Given the description of an element on the screen output the (x, y) to click on. 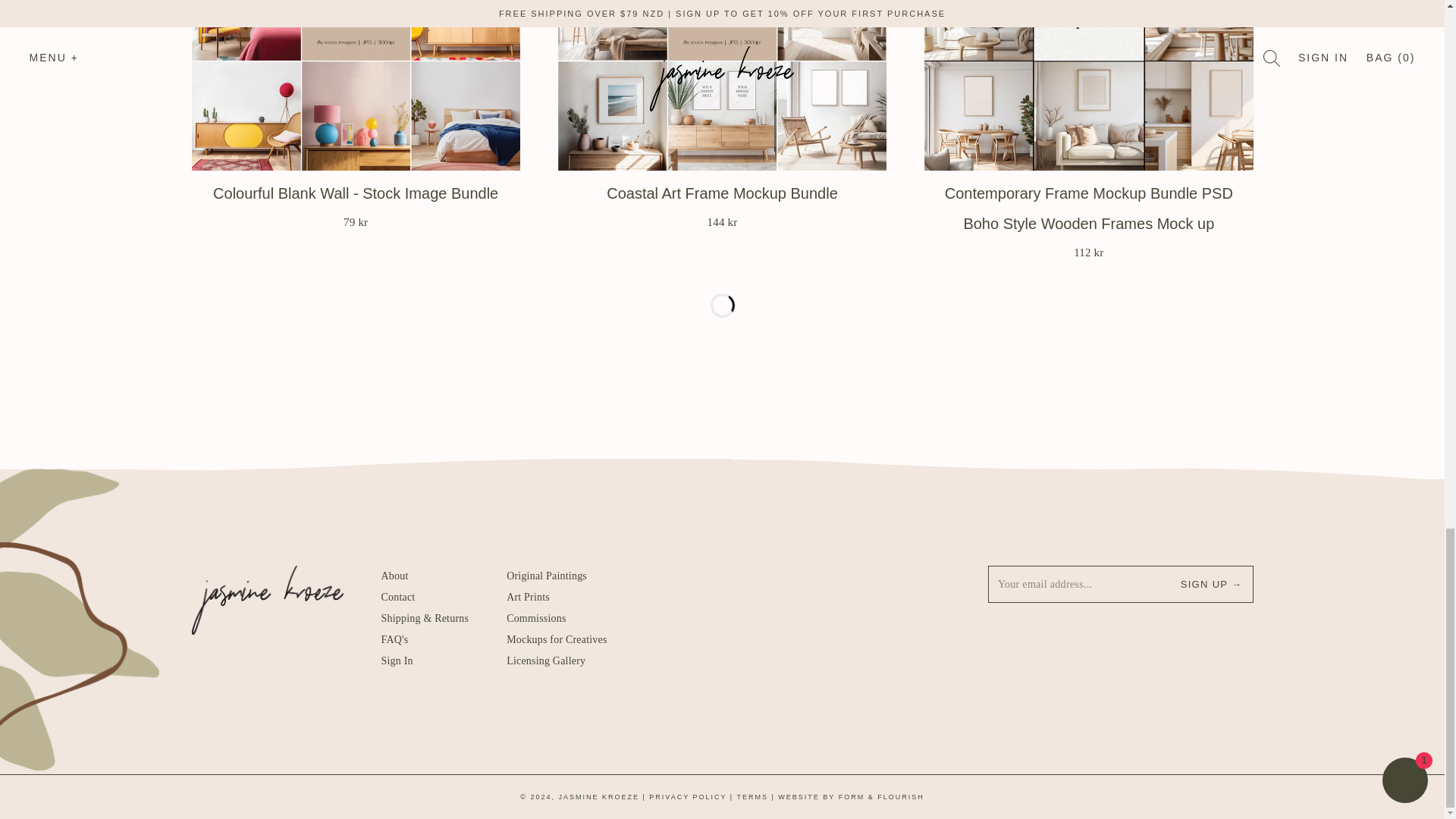
Shop All (528, 596)
Shipping (355, 201)
Licensing Gallery (400, 618)
Jasmine Kroeze - Artist (545, 660)
FAQ (393, 575)
Commissions (393, 639)
About (722, 201)
Original Artwork (536, 618)
Mockups for Creatives (393, 575)
Contact (546, 575)
Contact (556, 639)
